Given the description of an element on the screen output the (x, y) to click on. 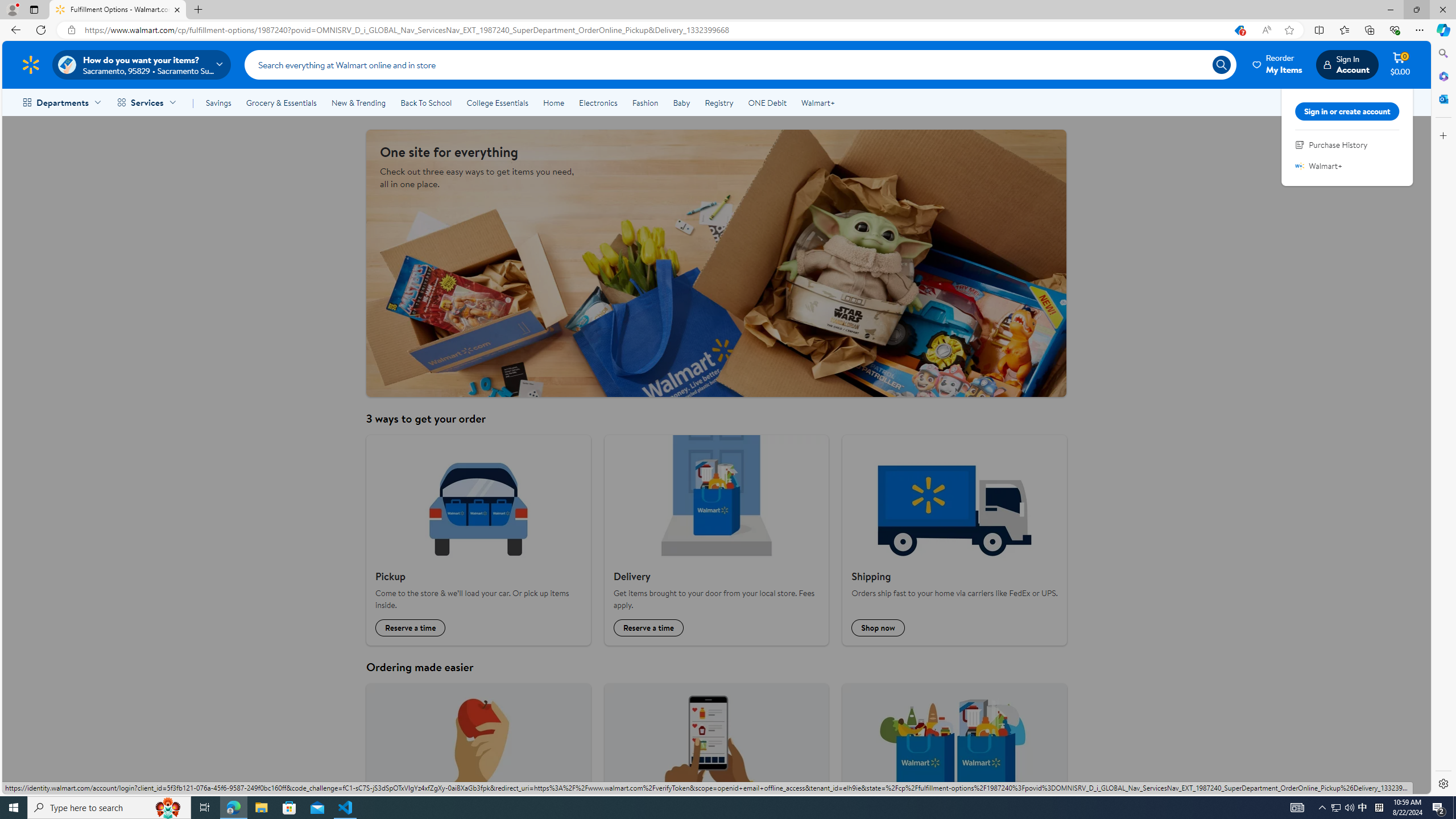
Baby (681, 102)
Walmart Homepage (30, 64)
Grocery & Essentials (280, 102)
ReorderMy Items (1277, 64)
Walmart+ (817, 102)
Side bar (1443, 418)
